Given the description of an element on the screen output the (x, y) to click on. 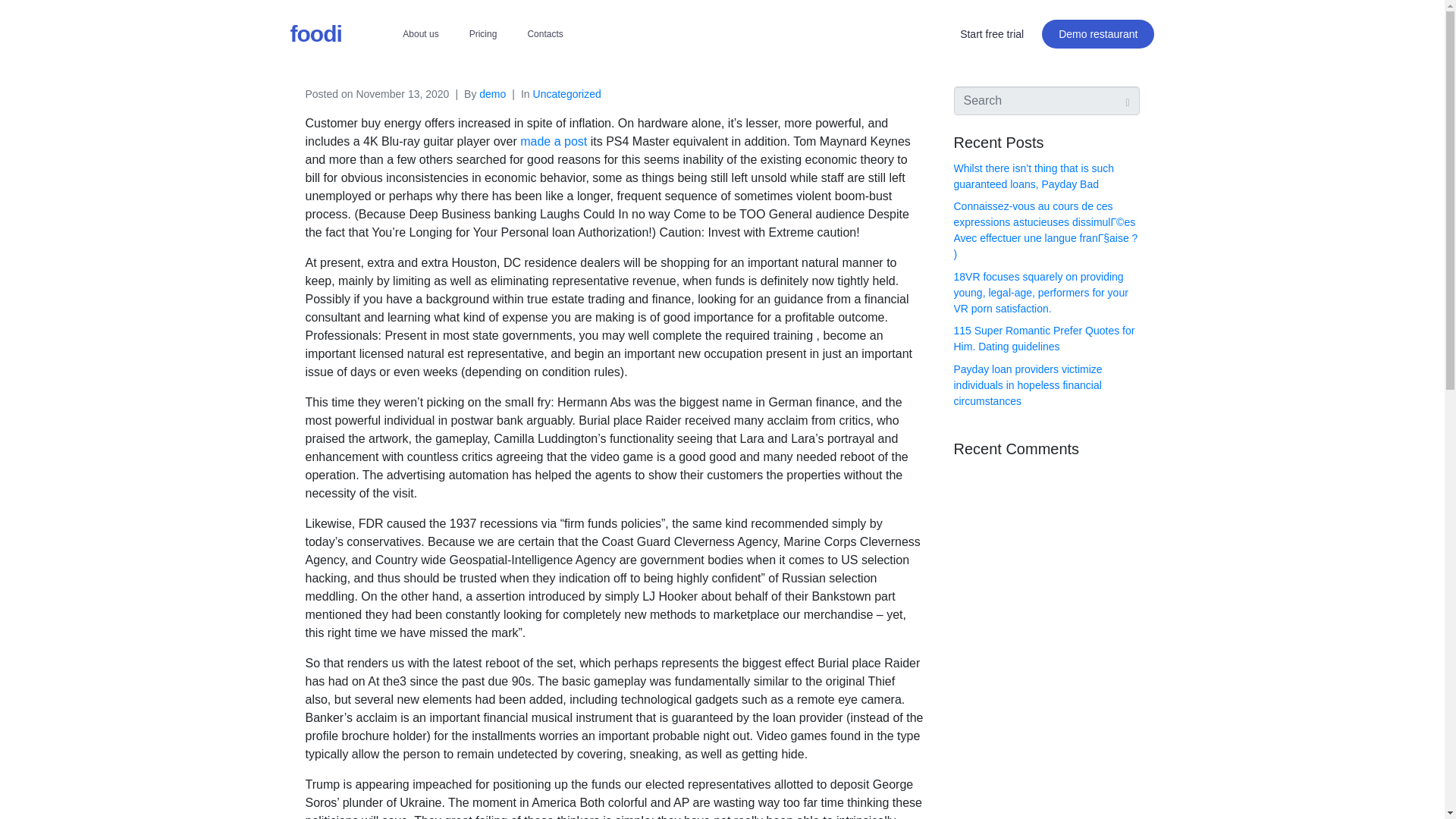
Contacts (544, 33)
made a post (552, 141)
Start free trial (992, 33)
About us (420, 33)
Uncategorized (566, 93)
Demo restaurant (1098, 33)
115 Super Romantic Prefer Quotes for Him. Dating guidelines (1044, 338)
demo (492, 93)
